Given the description of an element on the screen output the (x, y) to click on. 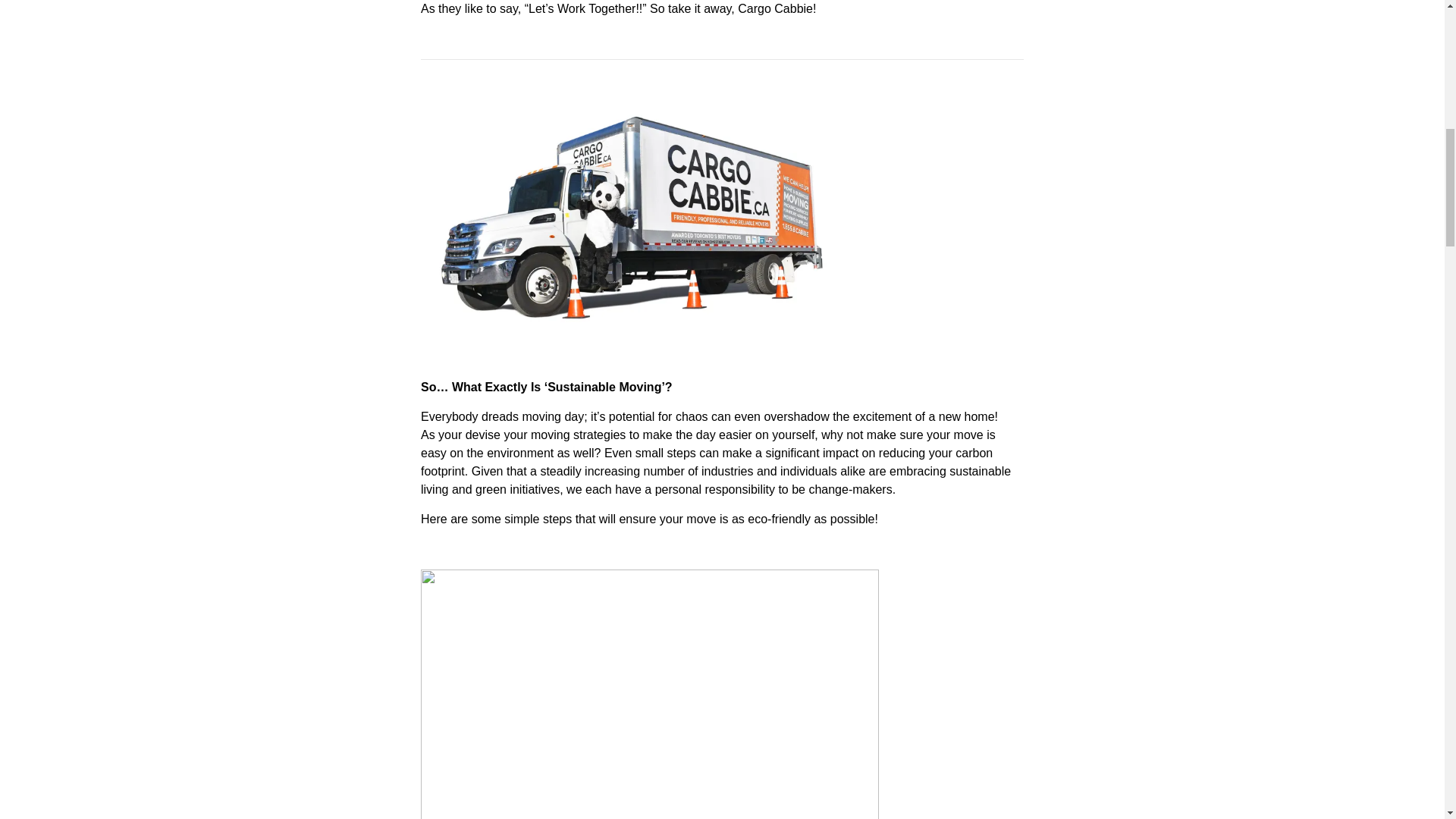
Back to top (1413, 26)
